Given the description of an element on the screen output the (x, y) to click on. 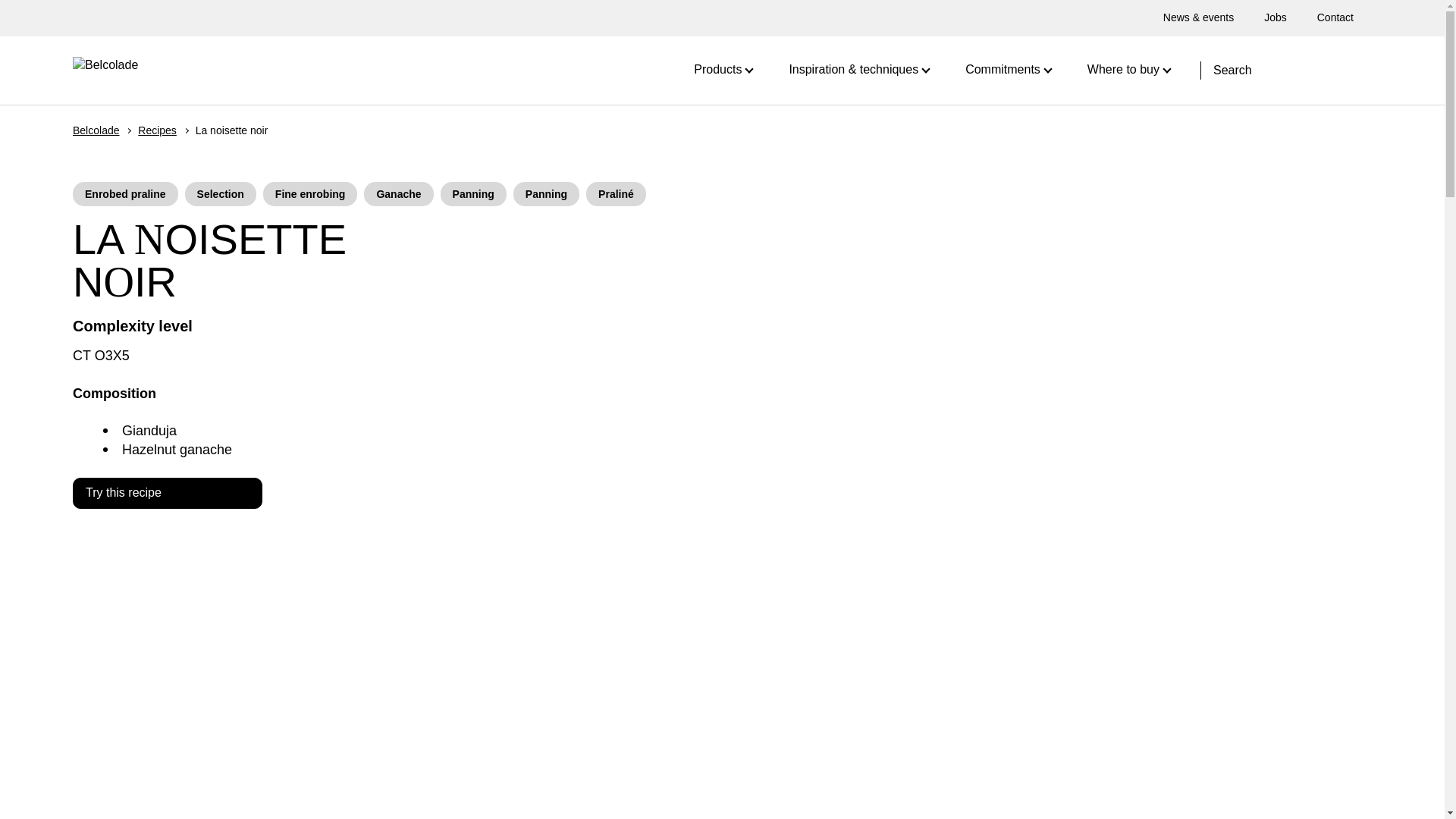
Site search (1335, 70)
Where to buy (1128, 70)
Jobs (1275, 17)
Enrobed praline (124, 194)
Recipes (157, 130)
Belcolade (95, 130)
Contact (1335, 17)
Commitments (1008, 70)
